Given the description of an element on the screen output the (x, y) to click on. 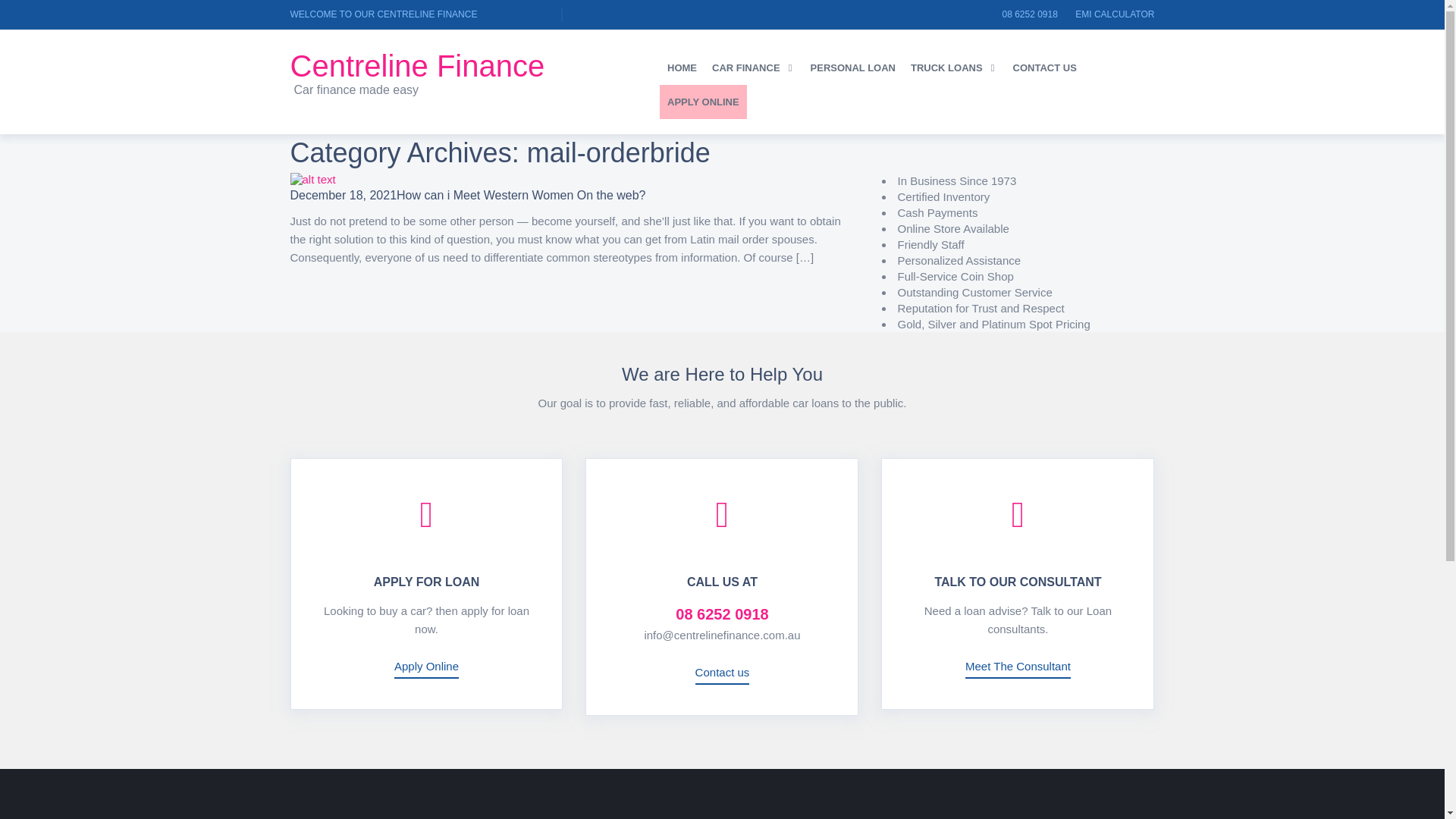
TRUCK LOANS (954, 67)
HOME (681, 67)
08 6252 0918 (1029, 14)
Centreline Finance (463, 65)
Meet The Consultant (1017, 668)
CAR FINANCE (753, 67)
CONTACT US (1045, 67)
APPLY ONLINE (702, 101)
Contact us (722, 674)
Apply Online (426, 668)
